Given the description of an element on the screen output the (x, y) to click on. 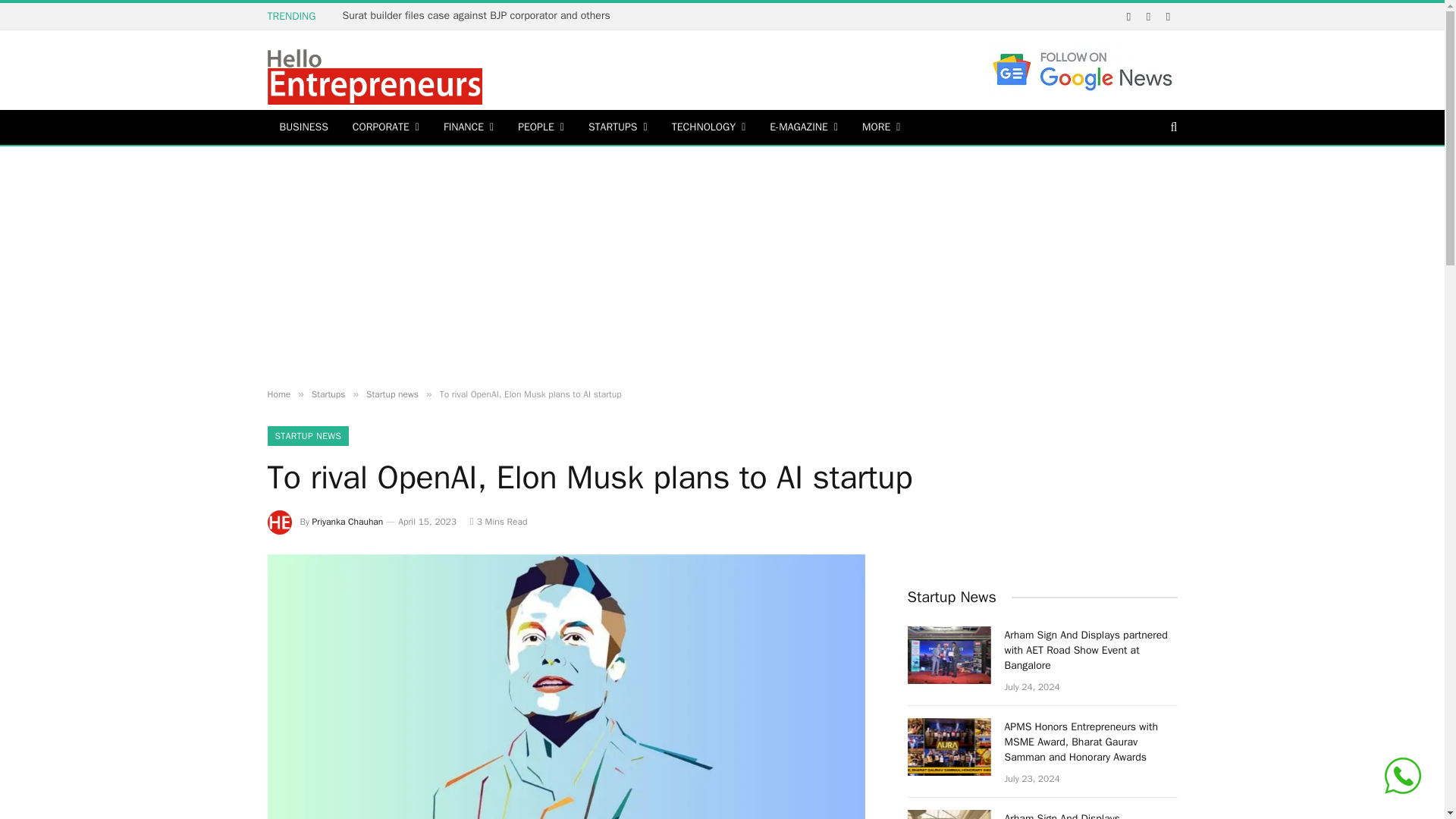
BUSINESS (302, 126)
Surat builder files case against BJP corporator and others (479, 15)
FINANCE (467, 126)
PEOPLE (540, 126)
CORPORATE (385, 126)
Hello Entrepreneurs (373, 72)
